Given the description of an element on the screen output the (x, y) to click on. 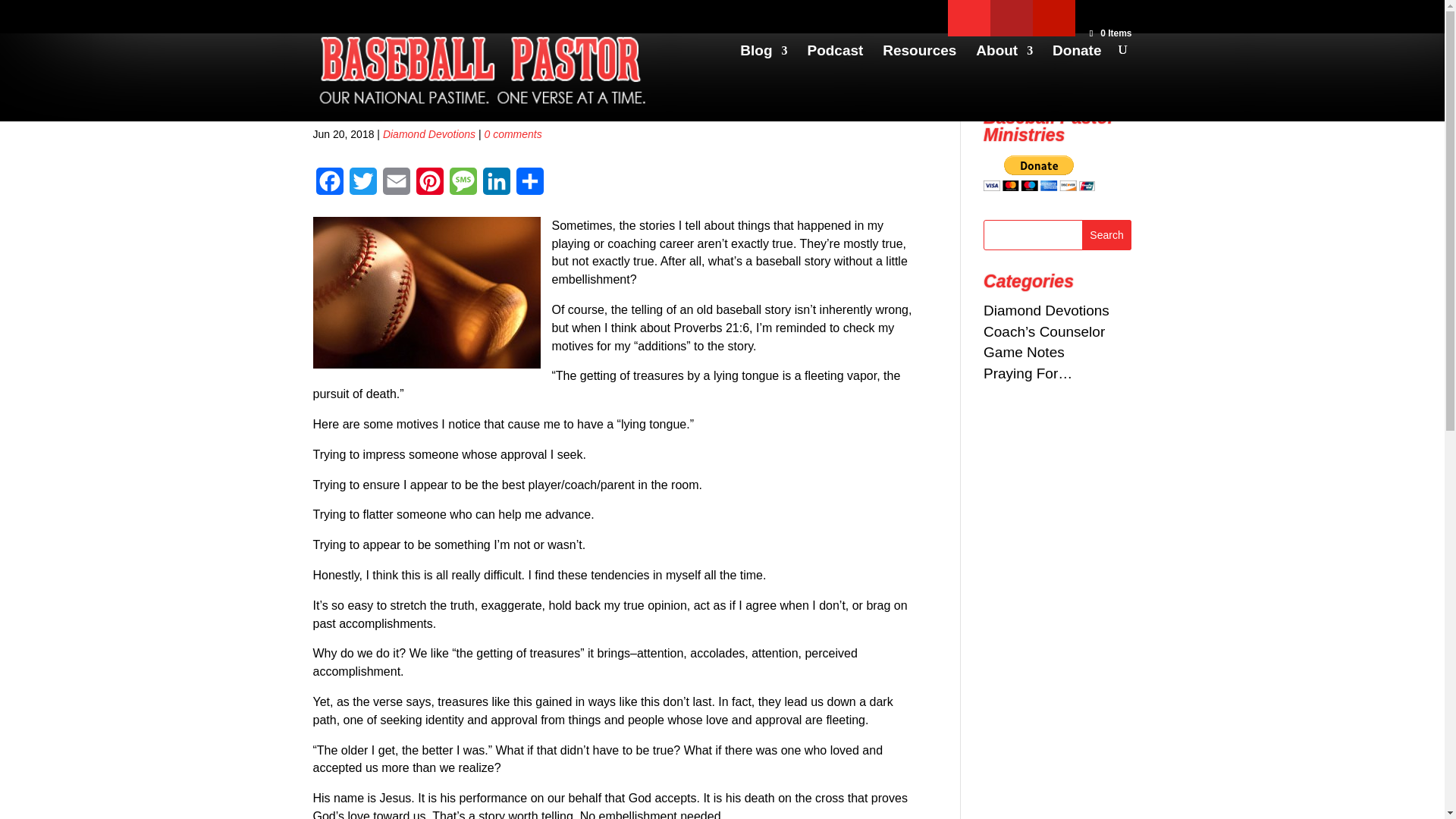
Pinterest (428, 185)
0 Items (1108, 32)
About (1003, 63)
Facebook (329, 185)
Search (1106, 235)
Twitter (362, 185)
Diamond Devotions (429, 133)
Email (395, 185)
Blog (763, 63)
Twitter (362, 185)
